Given the description of an element on the screen output the (x, y) to click on. 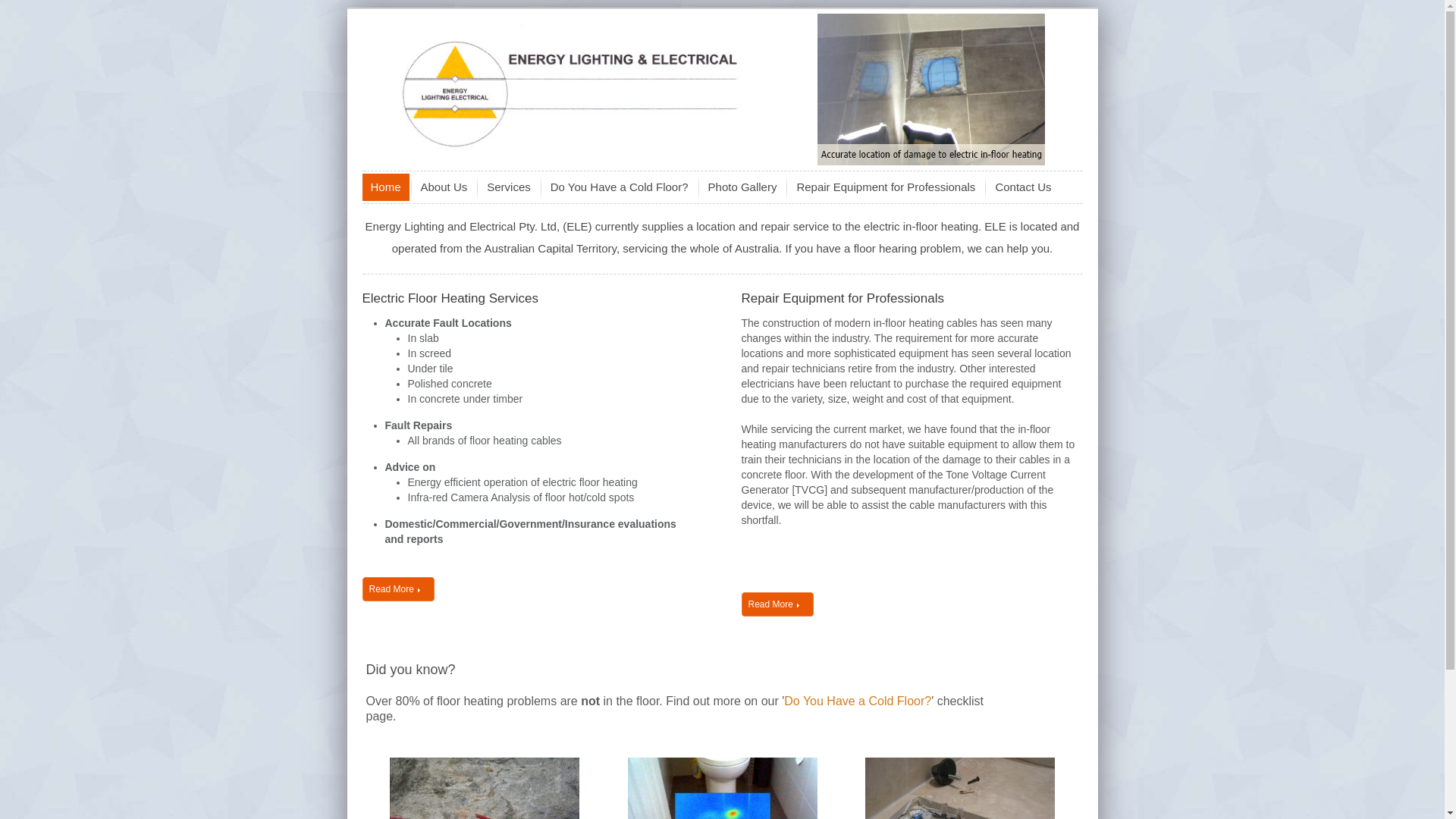
Electric Floor Heating Services Element type: text (450, 298)
Contact Us Element type: text (1022, 186)
Home Element type: text (385, 186)
Repair Equipment for Professionals Element type: text (842, 298)
Read More  Element type: text (777, 604)
Repair Equipment for Professionals Element type: text (885, 186)
About Us Element type: text (444, 186)
Do You Have a Cold Floor? Element type: text (619, 186)
Services Element type: text (508, 186)
Read More  Element type: text (398, 589)
Photo Gallery Element type: text (742, 186)
Do You Have a Cold Floor? Element type: text (857, 700)
